Given the description of an element on the screen output the (x, y) to click on. 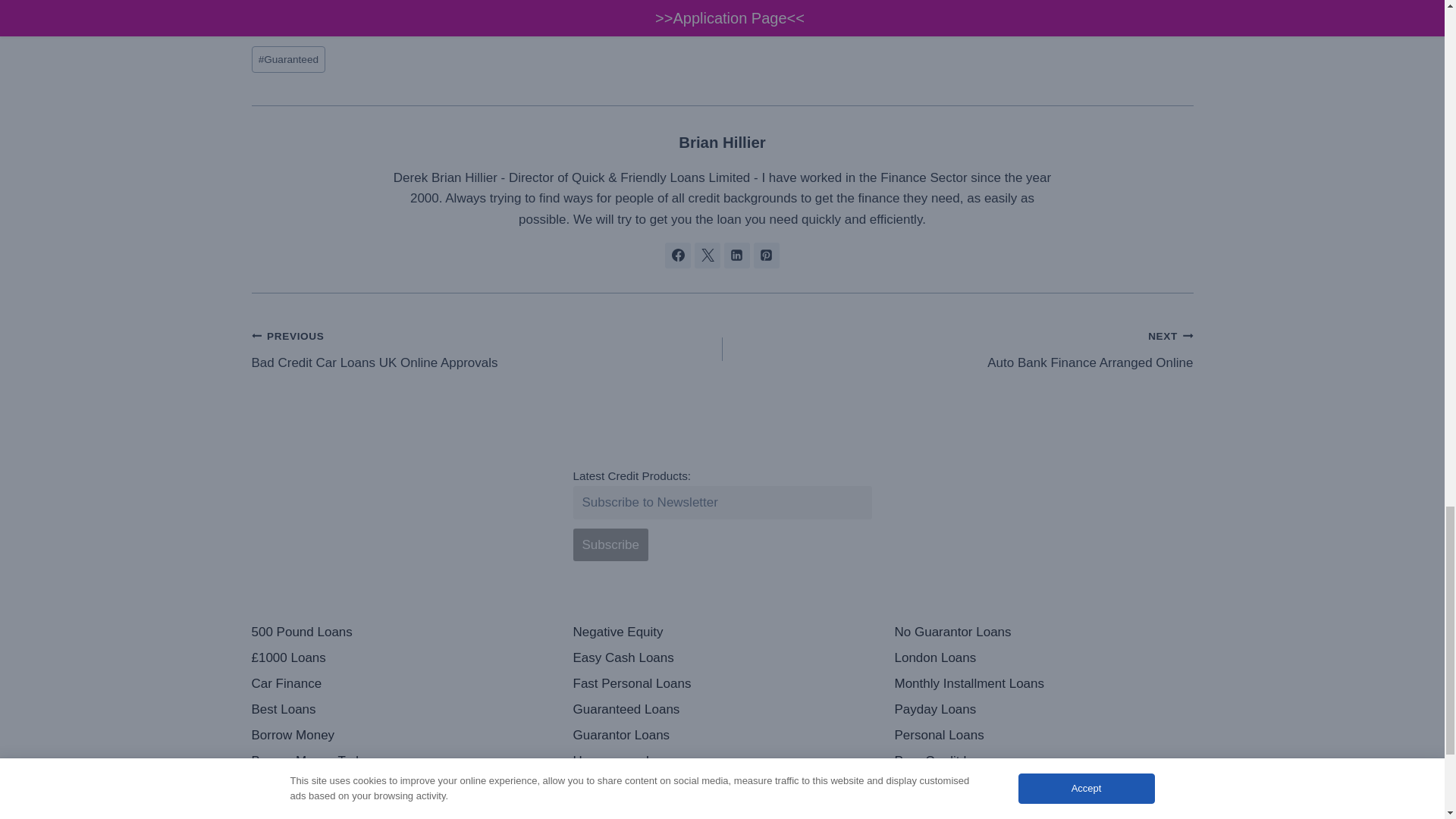
Guaranteed (288, 58)
500 Pound Loans (400, 632)
Car Finance (400, 683)
Follow Brian Hillier on Facebook (957, 349)
Follow Brian Hillier on X formerly Twitter (677, 255)
Cant Get Approved (707, 255)
Borrow Money (486, 349)
Brian Hillier (400, 786)
